Given the description of an element on the screen output the (x, y) to click on. 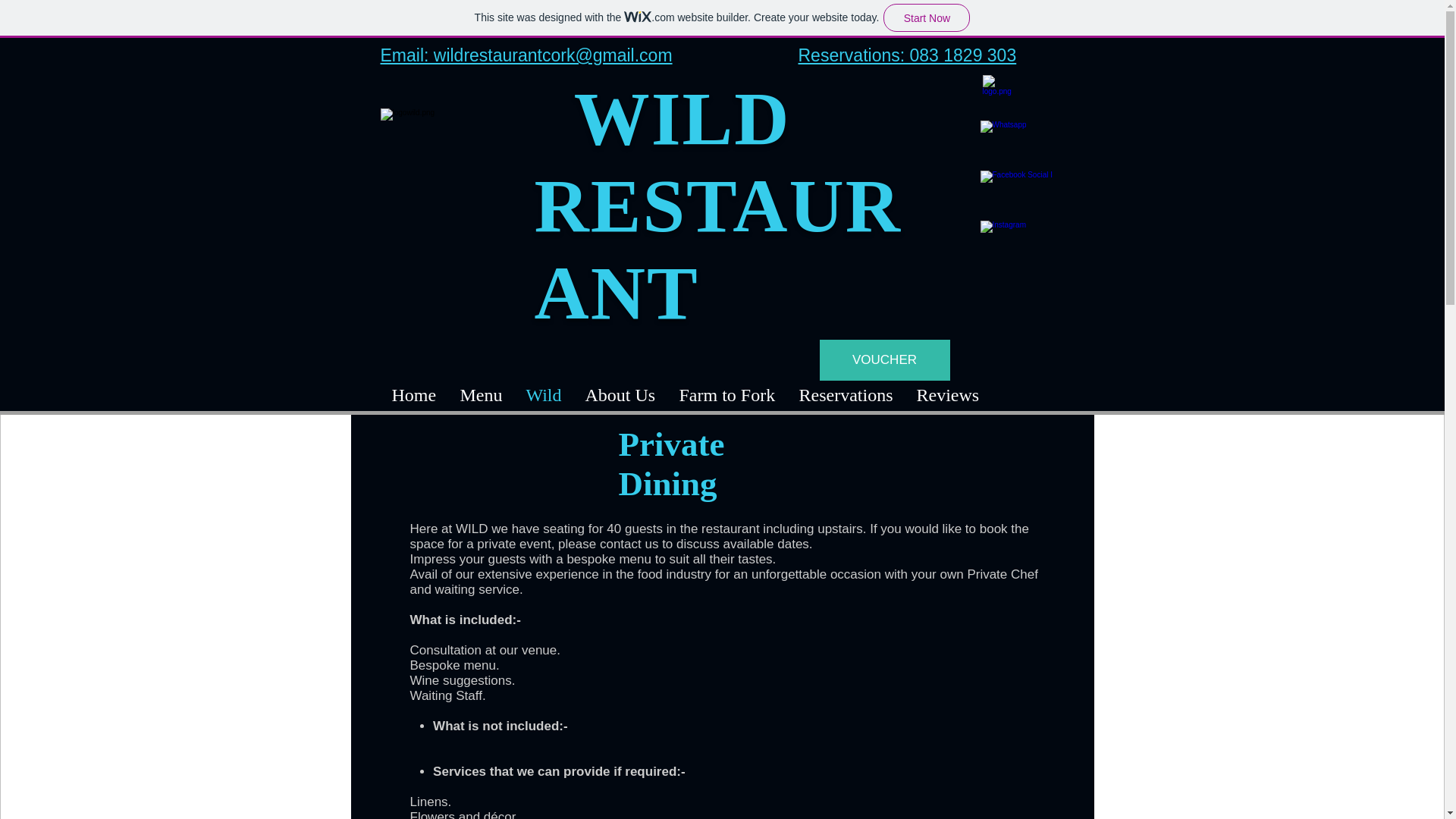
Menu (479, 395)
Farm to Fork (726, 395)
About Us (619, 395)
Reservations (845, 395)
VOUCHER (883, 359)
Reservations: 083 1829 303 (906, 55)
  WILD RESTAURANT (717, 205)
Home (414, 395)
Wild (543, 395)
Reviews (947, 395)
